Given the description of an element on the screen output the (x, y) to click on. 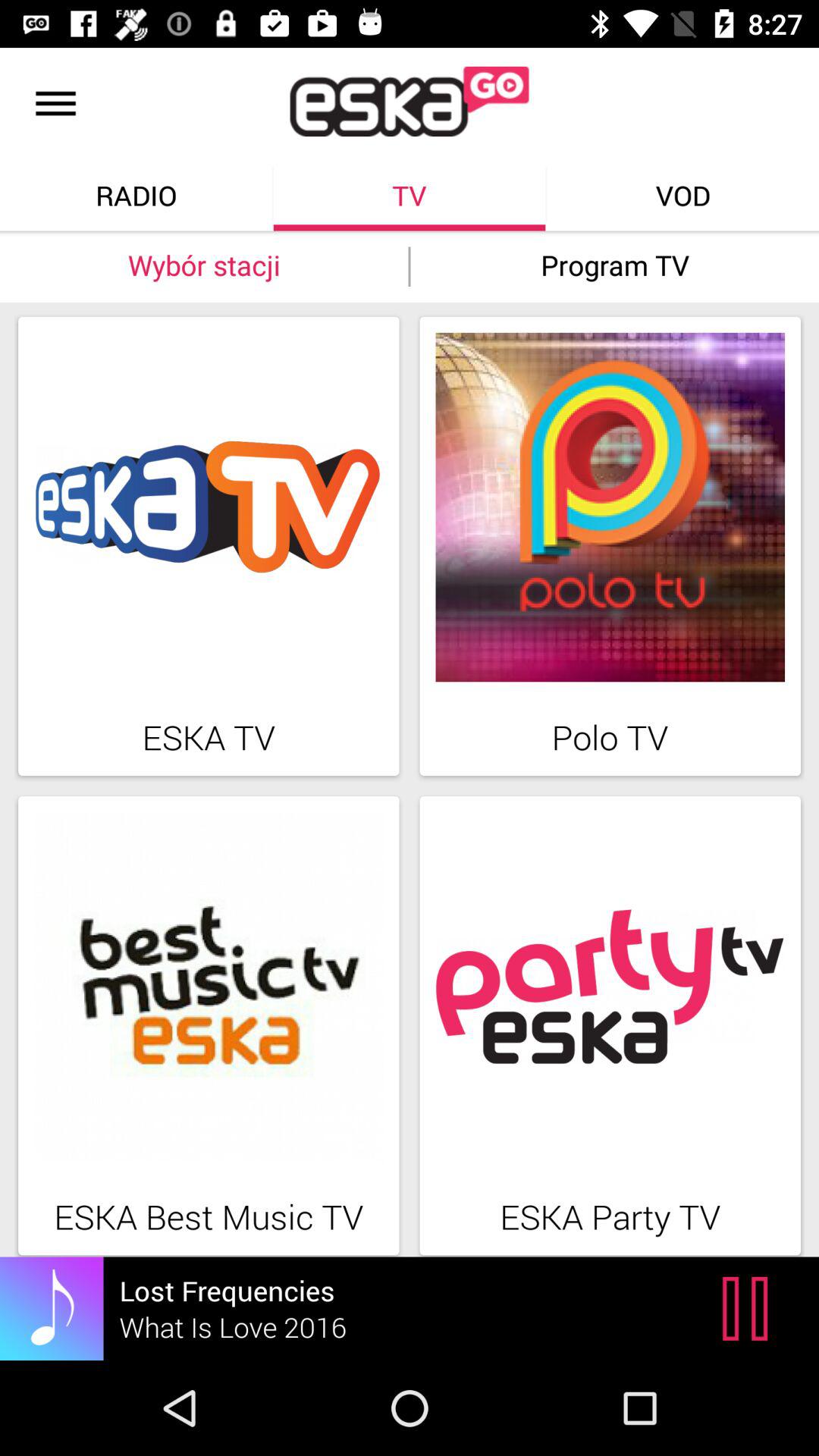
click on pause symbol (749, 1308)
click on the button next to tv (683, 194)
